Given the description of an element on the screen output the (x, y) to click on. 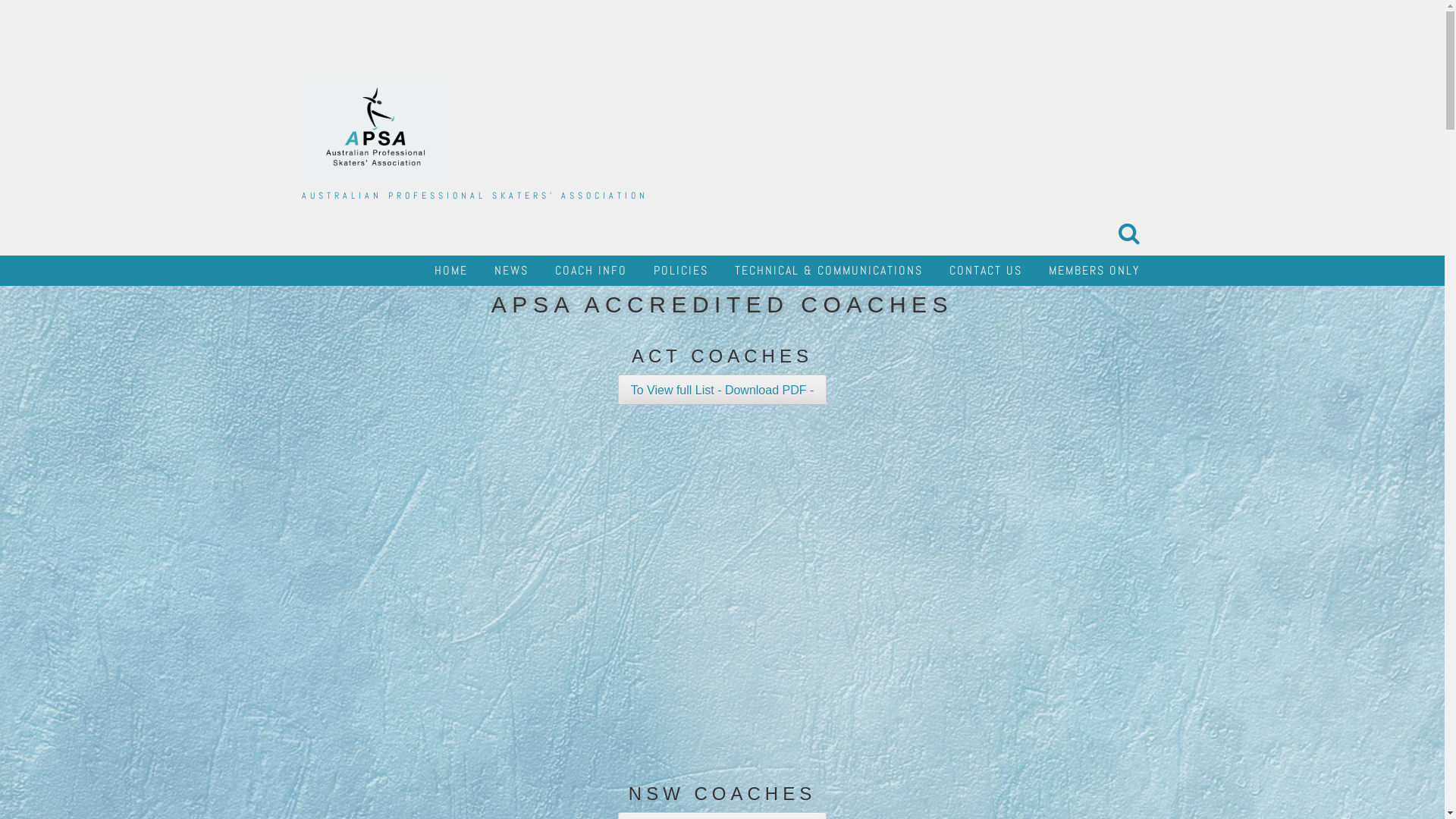
COACH INFO Element type: text (591, 270)
CONTACT US Element type: text (985, 270)
TECHNICAL & COMMUNICATIONS Element type: text (828, 270)
POLICIES Element type: text (680, 270)
NEWS Element type: text (511, 270)
To View full List - Download PDF - Element type: text (722, 389)
HOME Element type: text (450, 270)
MEMBERS ONLY Element type: text (1093, 270)
To View full List - Download PDF - Element type: text (722, 389)
